Given the description of an element on the screen output the (x, y) to click on. 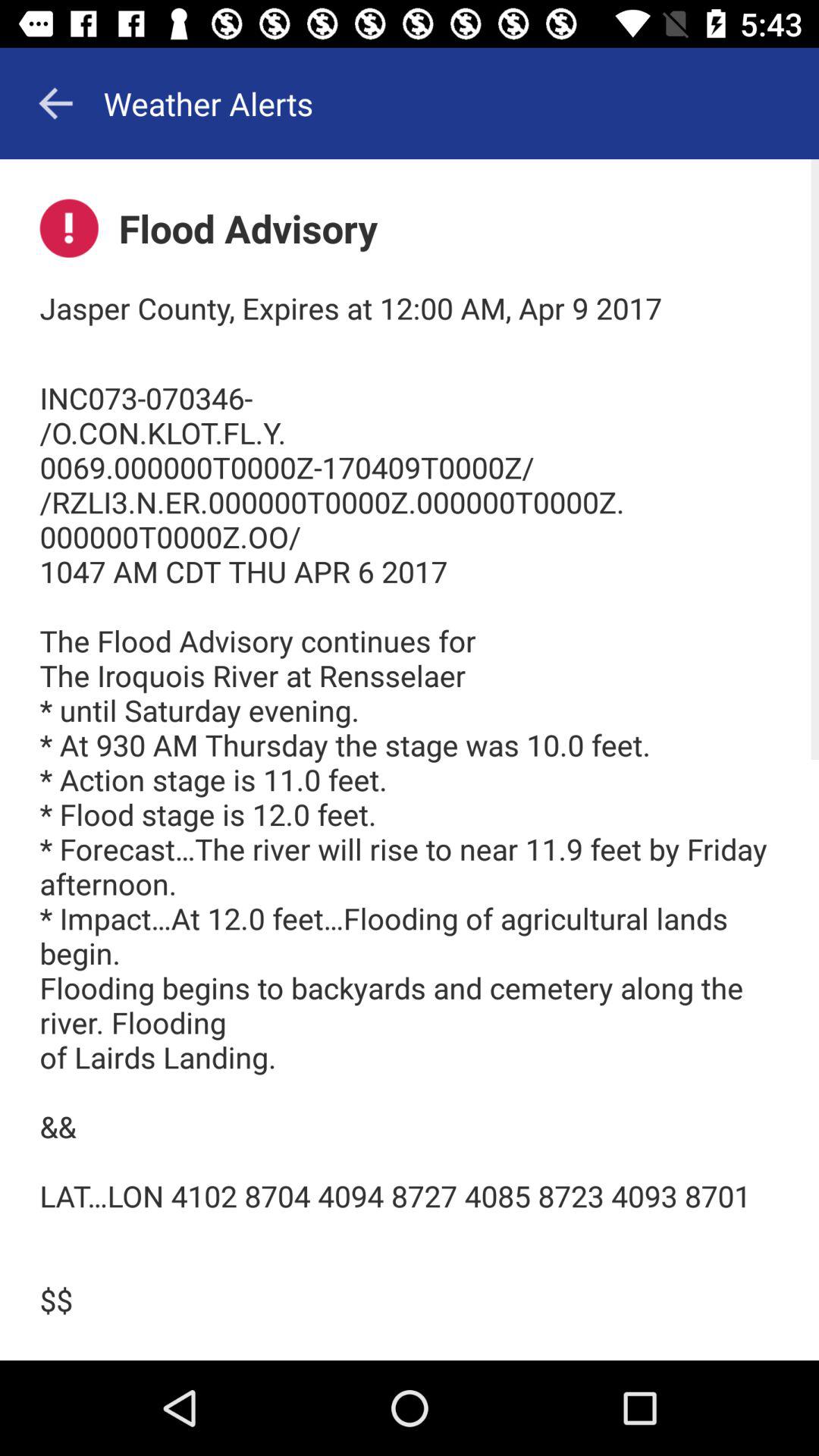
select item next to the weather alerts (55, 103)
